Given the description of an element on the screen output the (x, y) to click on. 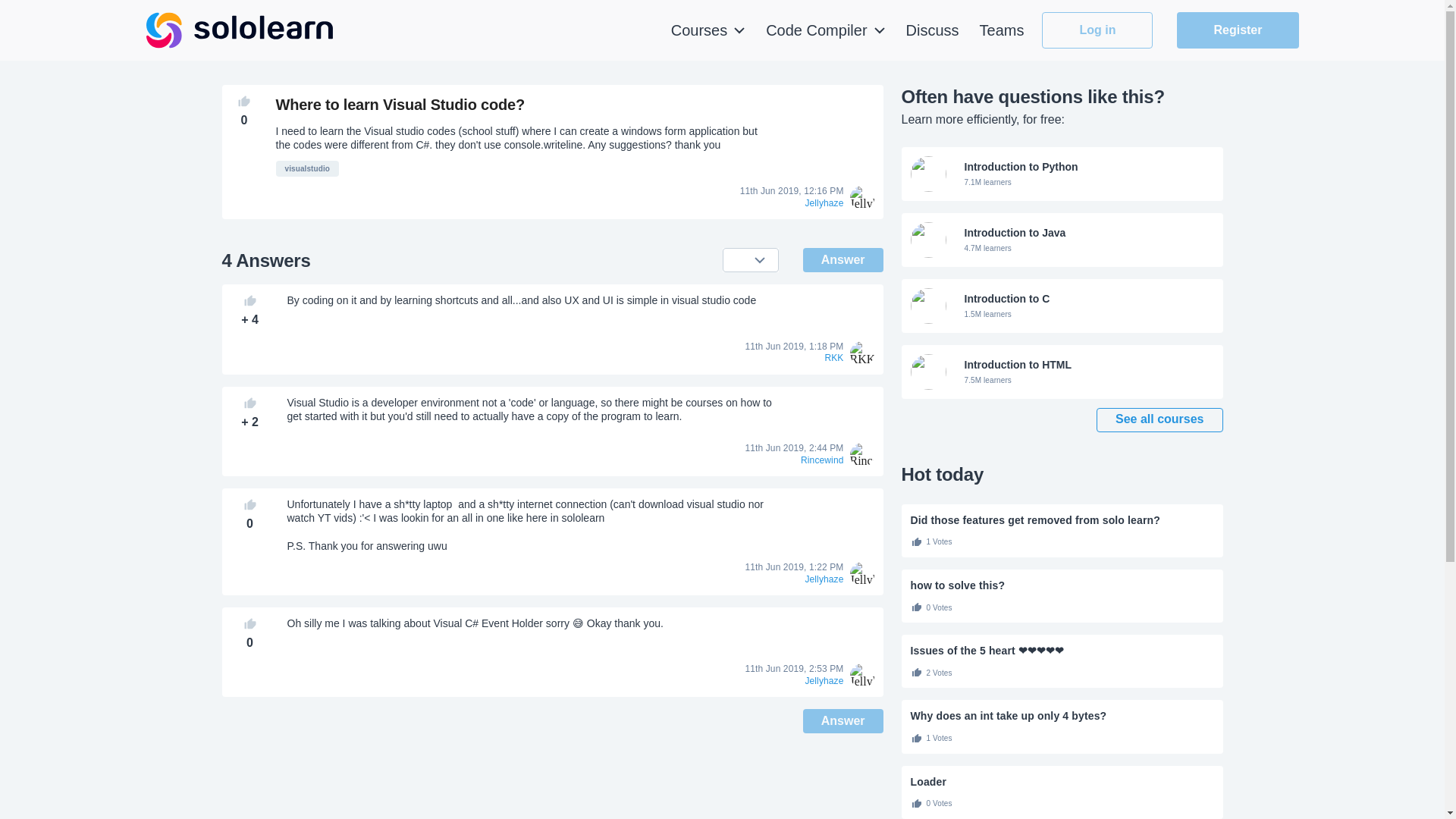
Loader (1062, 239)
Introduction to HTML (1061, 781)
Answer (1062, 371)
Teams (843, 259)
Log in (1002, 30)
Code Compiler (1062, 305)
Introduction to Python (1097, 30)
Introduction to Java (825, 29)
visualstudio (1062, 173)
Did those features get removed from solo learn? (1062, 371)
Why does an int take up only 4 bytes? (1062, 239)
Introduction to C (307, 168)
